Given the description of an element on the screen output the (x, y) to click on. 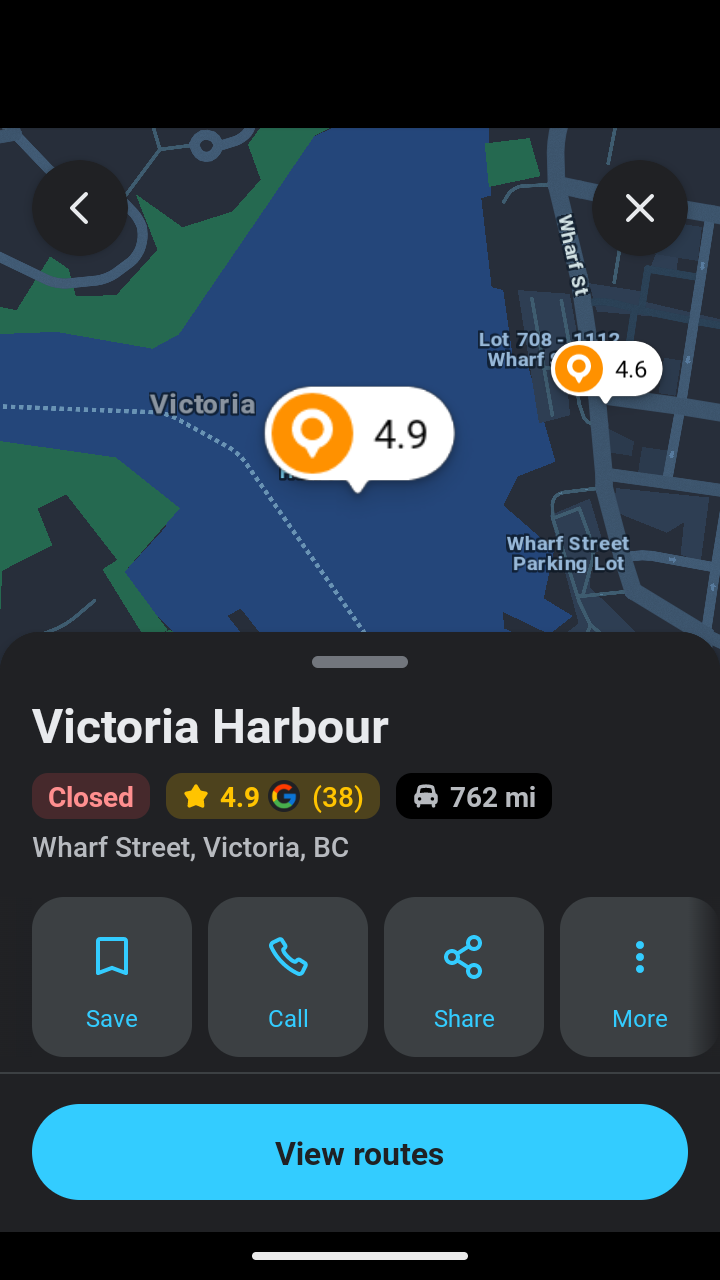
Around you (360, 760)
